Given the description of an element on the screen output the (x, y) to click on. 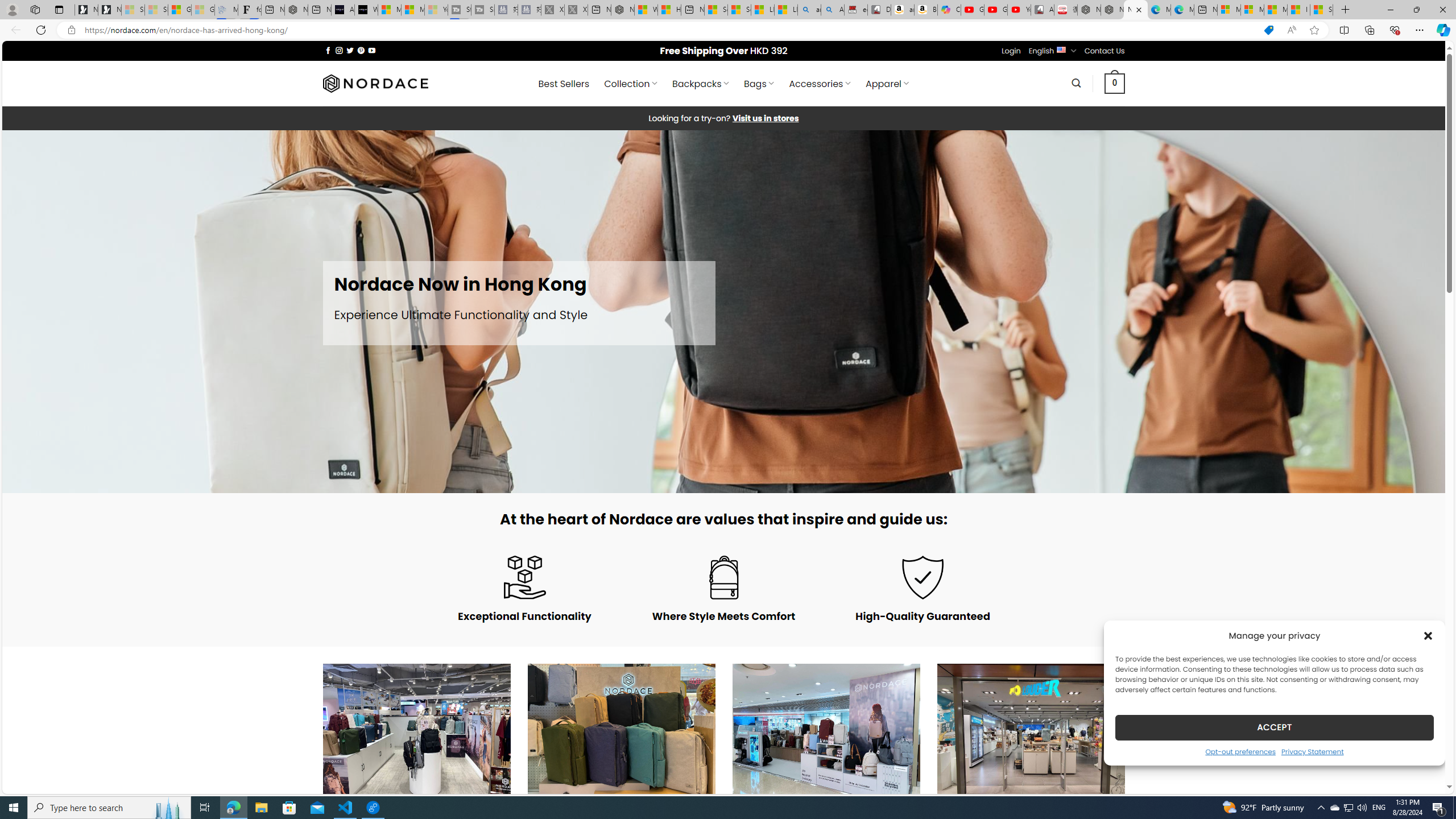
Follow on Twitter (349, 49)
Streaming Coverage | T3 - Sleeping (459, 9)
amazon - Search (809, 9)
Nordace - Nordace has arrived Hong Kong (1135, 9)
Follow on YouTube (371, 49)
Opt-out preferences (1240, 750)
